Given the description of an element on the screen output the (x, y) to click on. 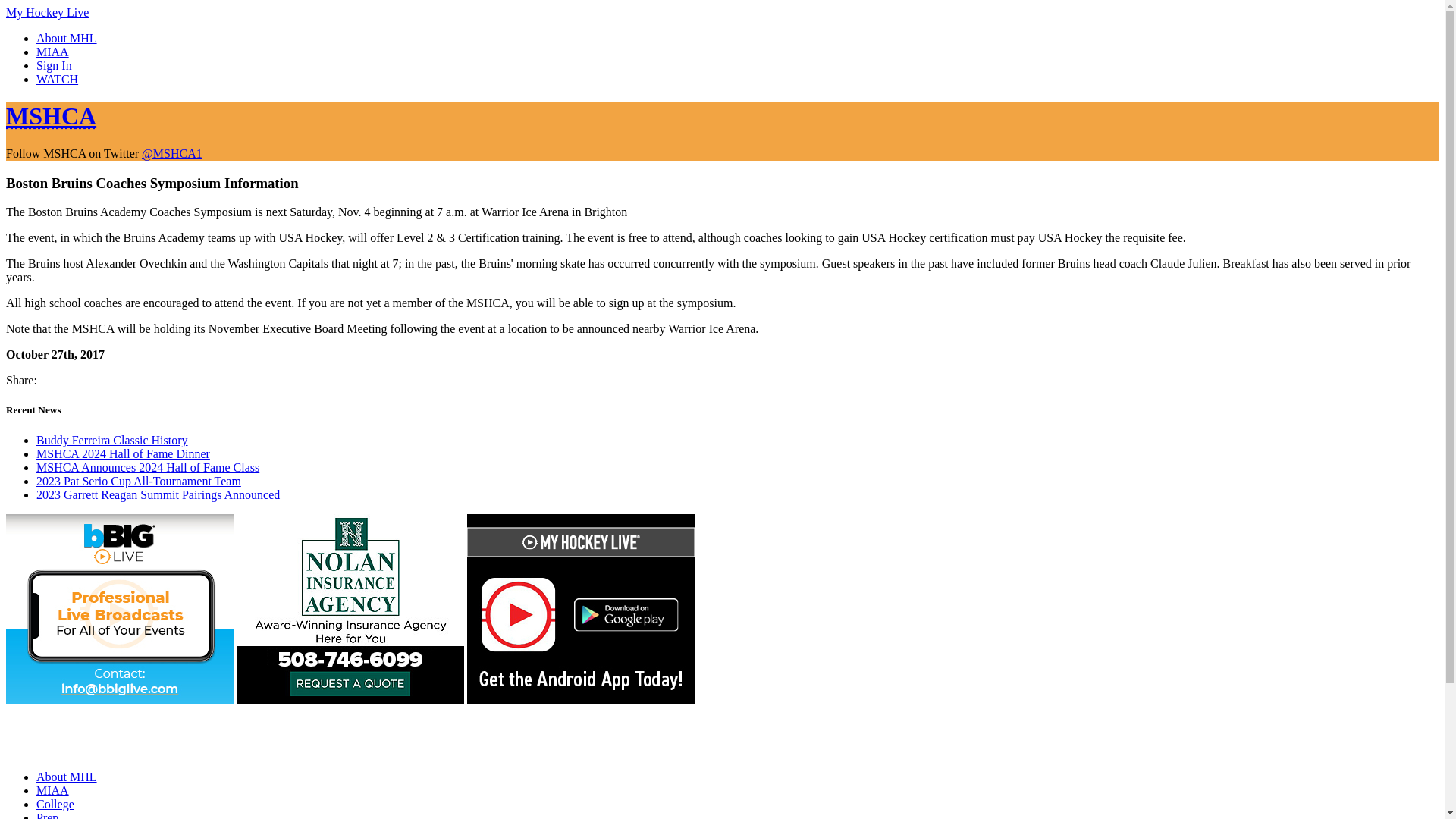
WATCH (57, 78)
About MHL (66, 38)
MSHCA (50, 115)
Massachusetts State Hockey Coaches Association (50, 115)
MHL Home (83, 750)
College (55, 803)
Nolan Insurance (349, 698)
MSHCA 2024 Hall of Fame Dinner (122, 453)
2023 Garrett Reagan Summit Pairings Announced (157, 494)
MIAA (52, 789)
My Hockey Live (46, 11)
About MHL (66, 776)
MIAA (52, 51)
Mobile App Google (580, 698)
Sign In (53, 65)
